Given the description of an element on the screen output the (x, y) to click on. 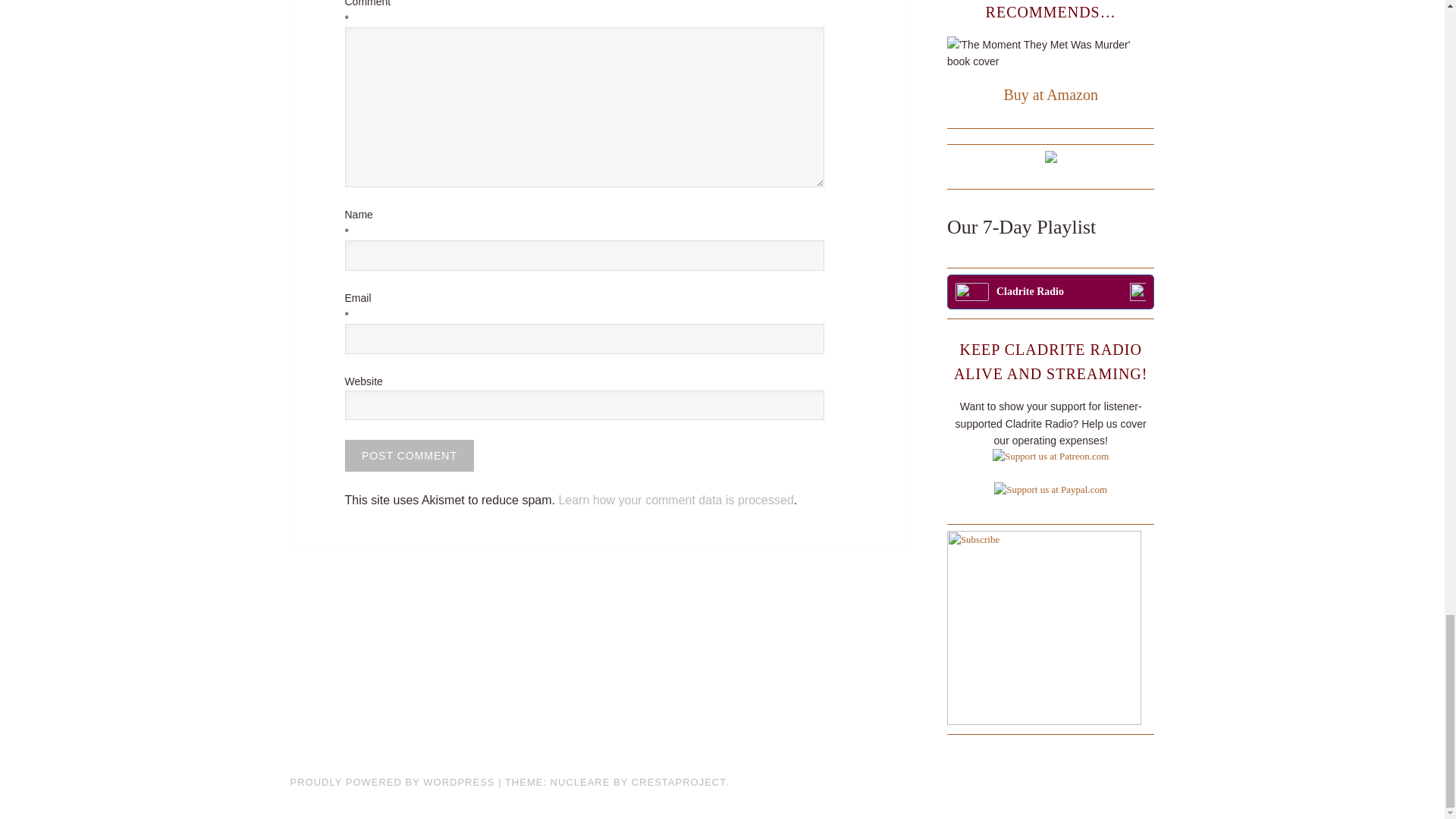
Post Comment (408, 455)
